Given the description of an element on the screen output the (x, y) to click on. 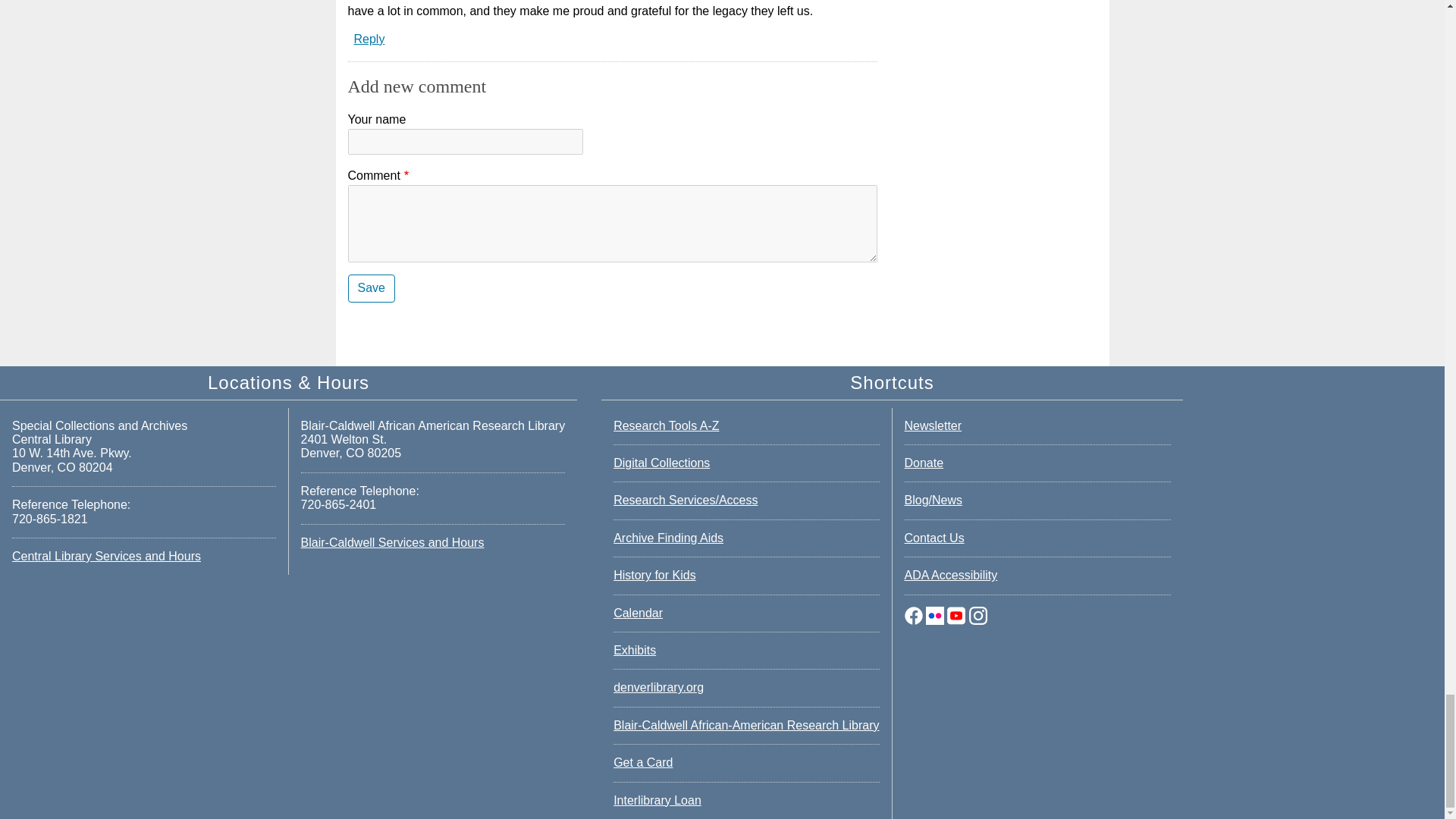
Save (370, 288)
Reply (368, 38)
Save (370, 288)
